Given the description of an element on the screen output the (x, y) to click on. 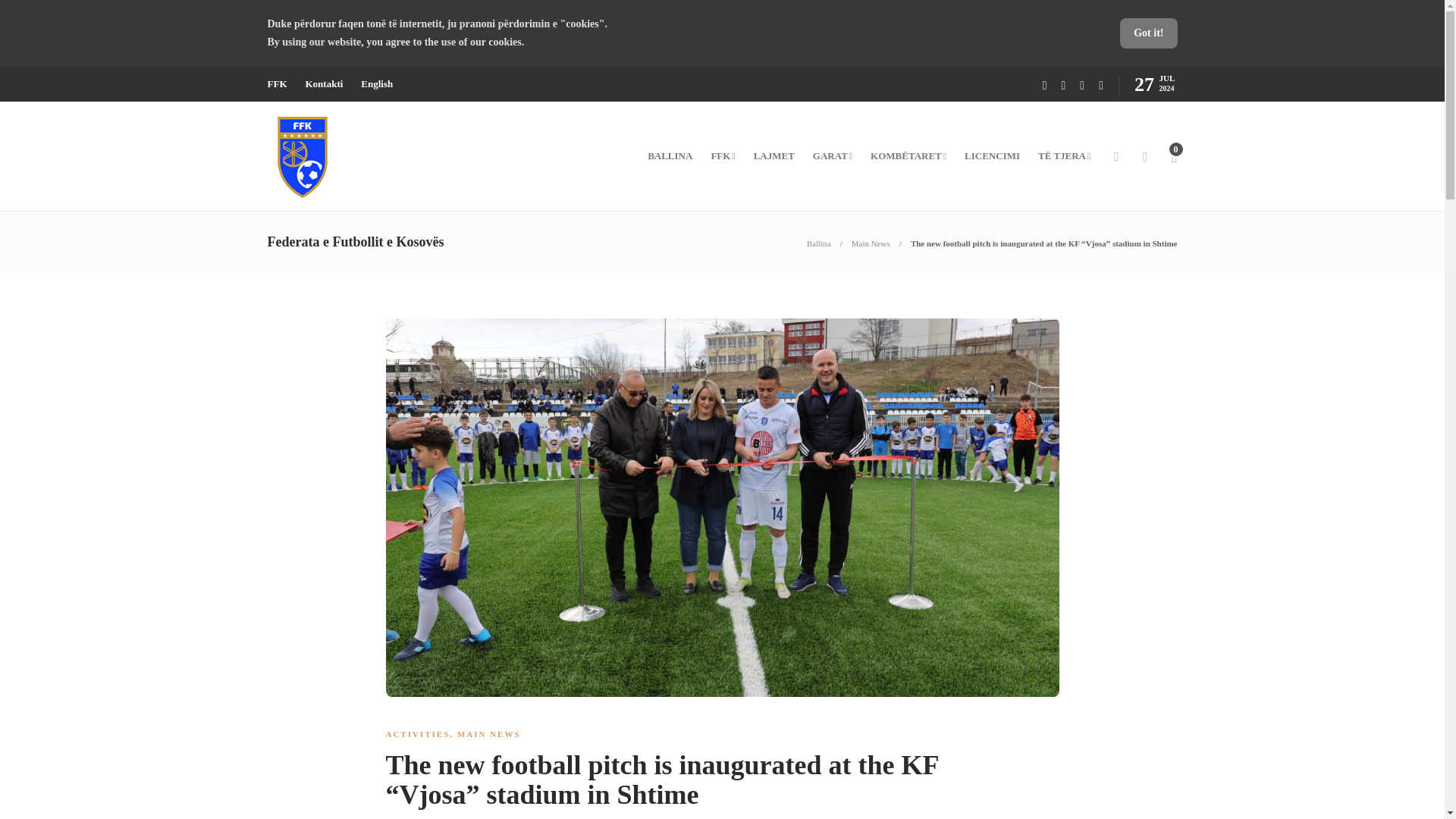
Ballina (818, 243)
Got it! (1147, 33)
